Given the description of an element on the screen output the (x, y) to click on. 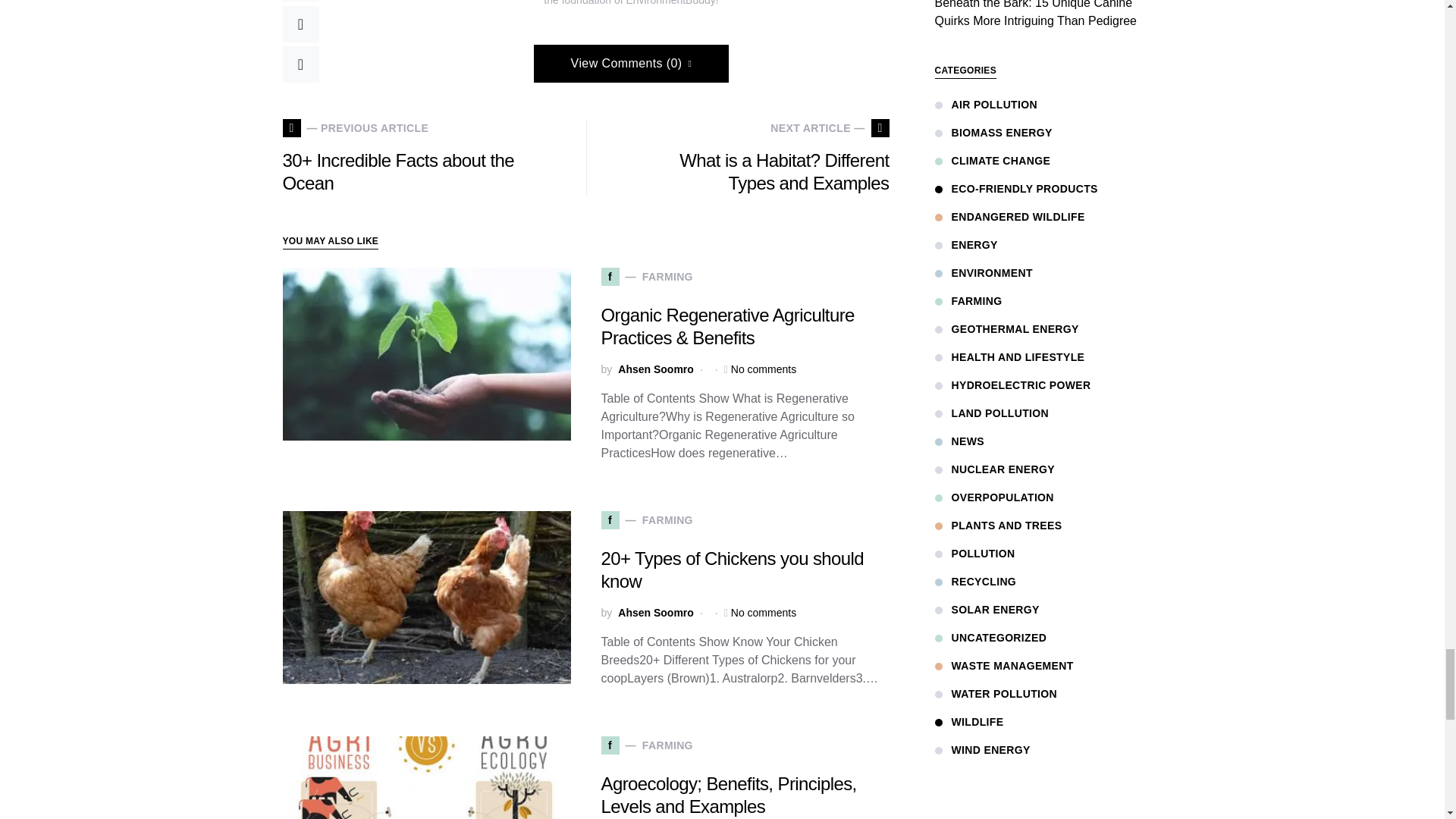
View all posts by Ahsen Soomro (655, 612)
View all posts by Ahsen Soomro (655, 369)
